Given the description of an element on the screen output the (x, y) to click on. 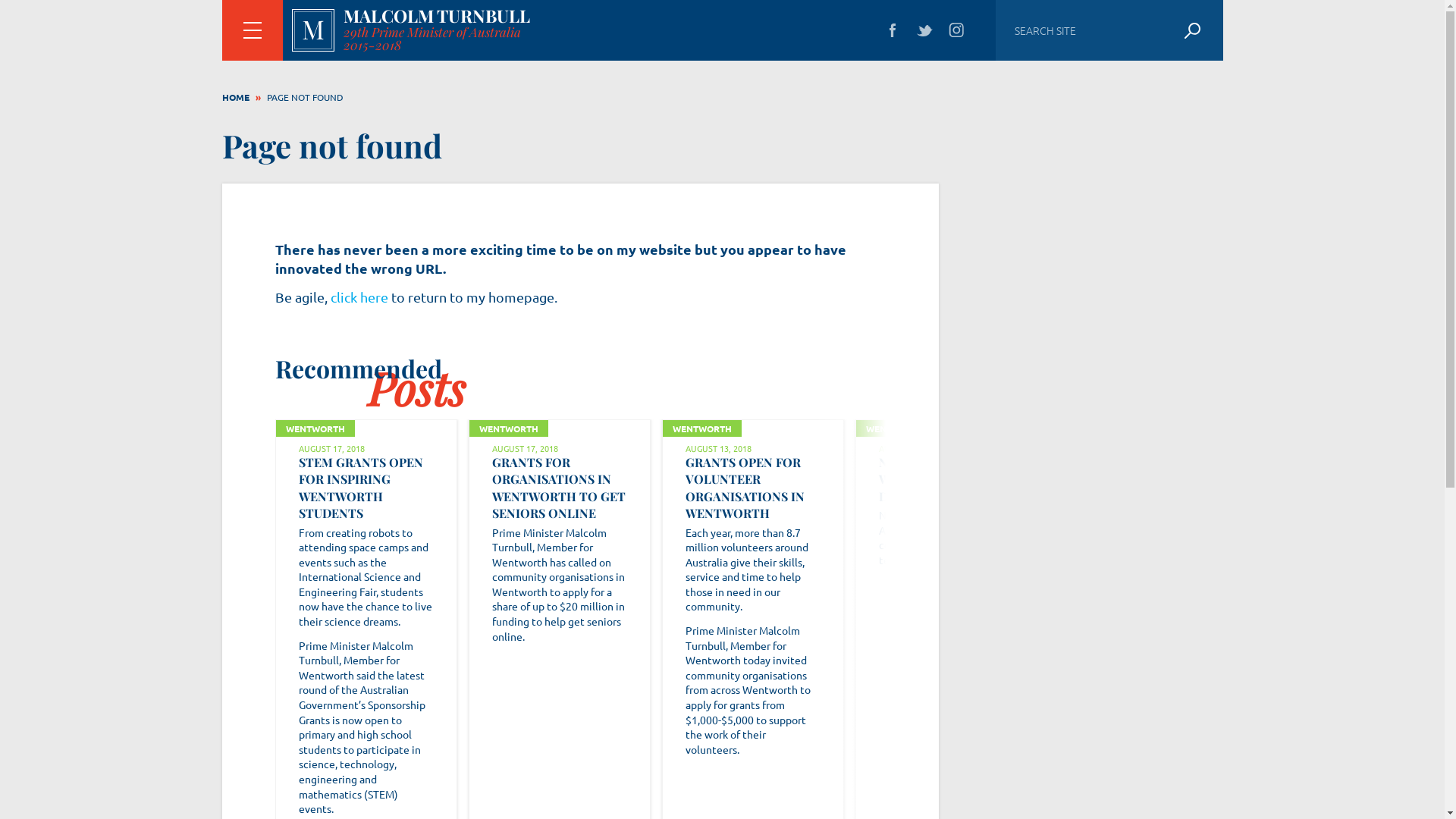
HOME Element type: text (234, 97)
NATIONAL SCIENCE WEEK 2018: MAKE A DISCOVERY Element type: text (937, 479)
STEM GRANTS OPEN FOR INSPIRING WENTWORTH STUDENTS Element type: text (360, 487)
GRANTS FOR ORGANISATIONS IN WENTWORTH TO GET SENIORS ONLINE Element type: text (557, 487)
LOCAL PROJECTS DELIVER STRONGER COMMUNITIES IN WENTWORTH Element type: text (1133, 487)
GRANTS OPEN FOR VOLUNTEER ORGANISATIONS IN WENTWORTH Element type: text (744, 487)
click here Element type: text (359, 296)
